Given the description of an element on the screen output the (x, y) to click on. 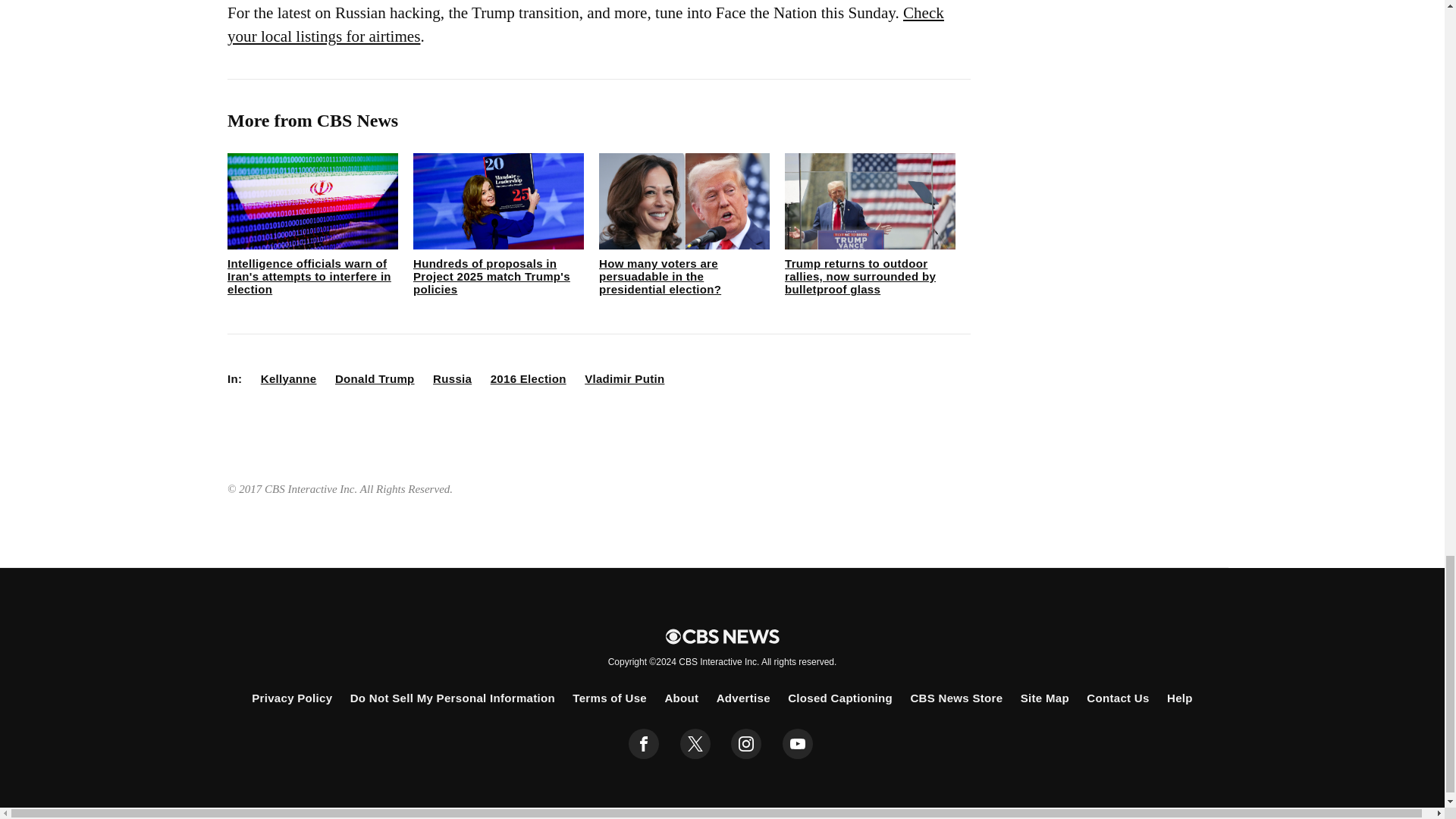
instagram (745, 743)
twitter (694, 743)
youtube (797, 743)
facebook (643, 743)
